Given the description of an element on the screen output the (x, y) to click on. 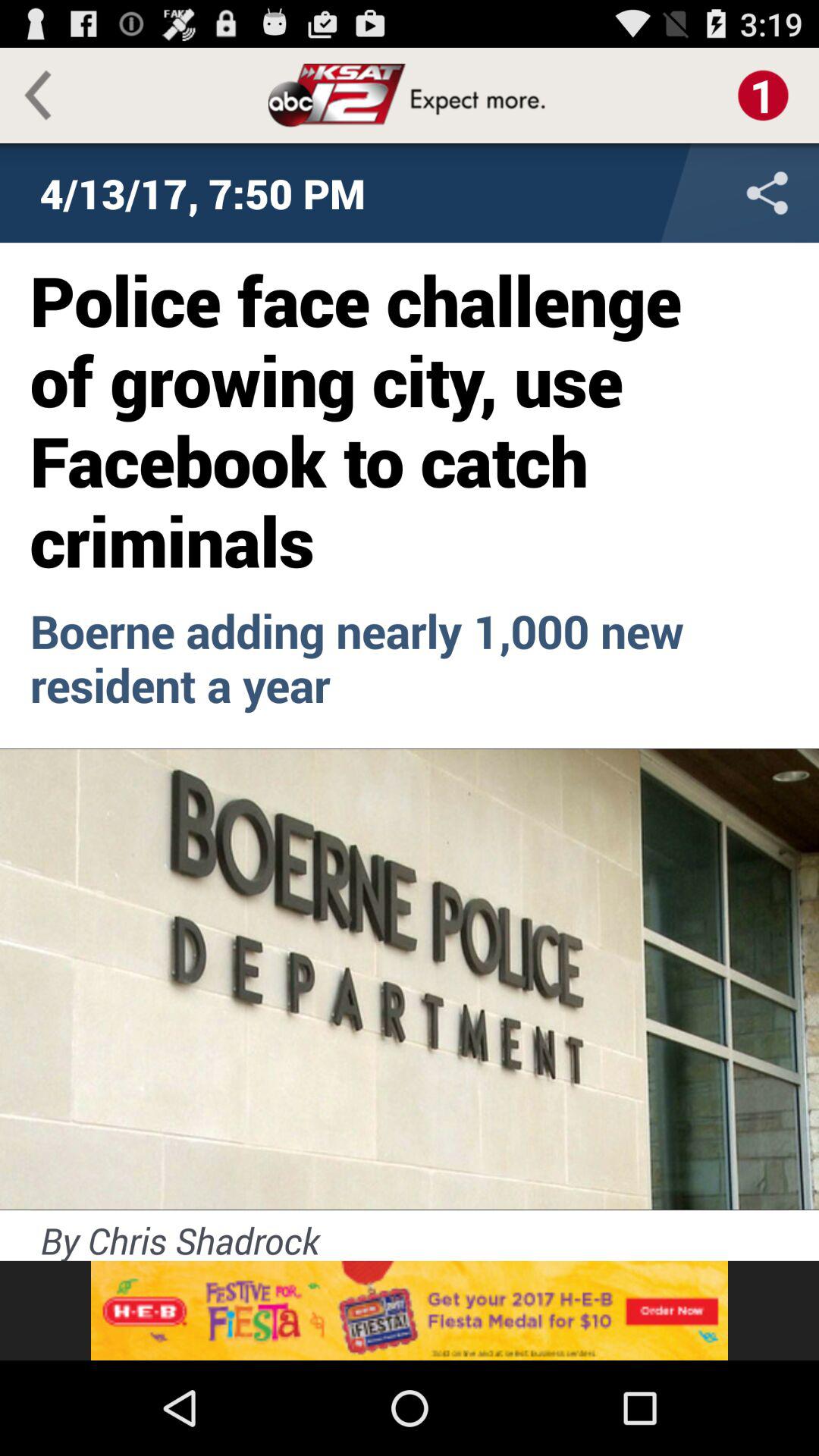
share article (667, 192)
